Given the description of an element on the screen output the (x, y) to click on. 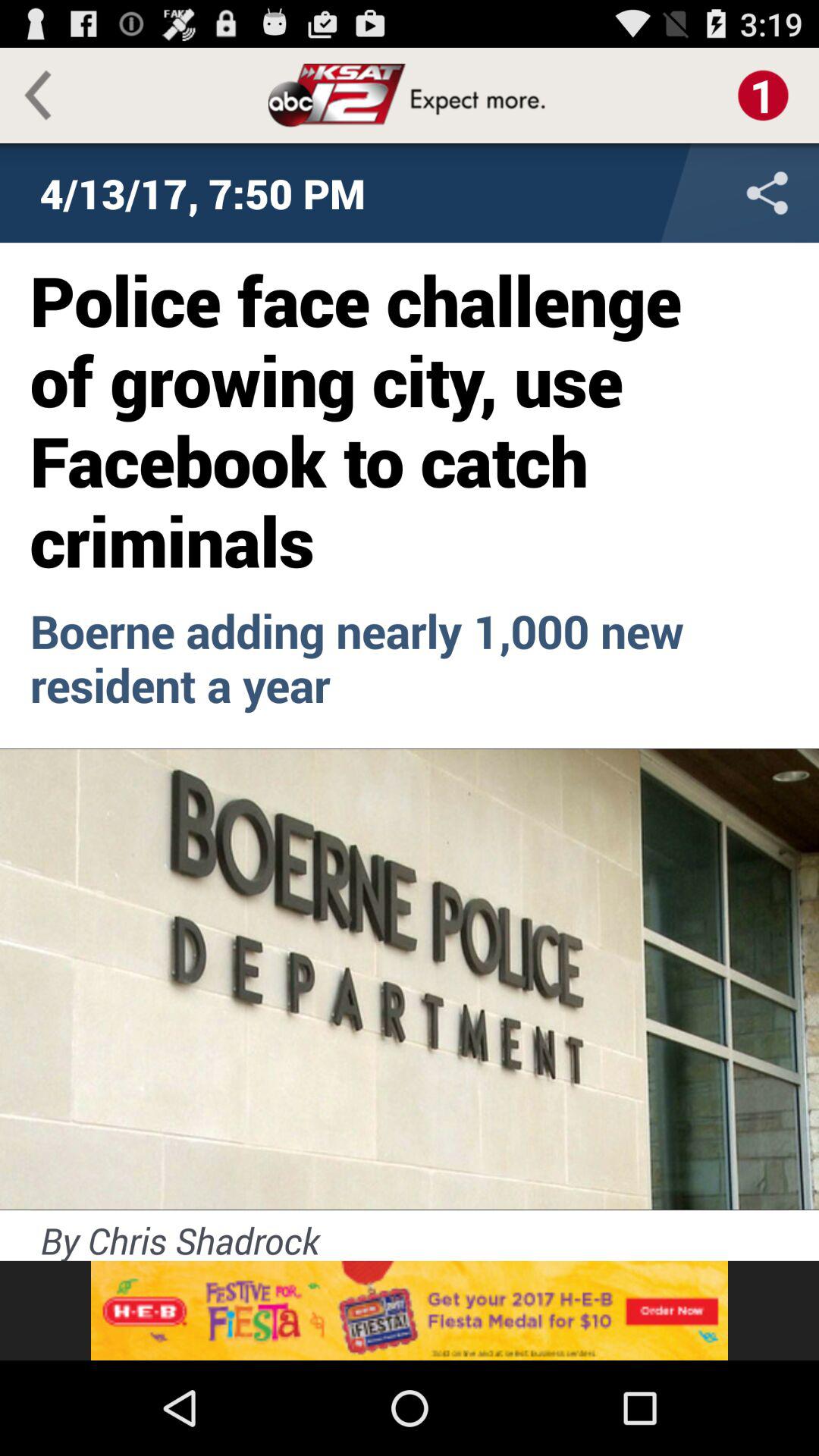
share article (667, 192)
